Given the description of an element on the screen output the (x, y) to click on. 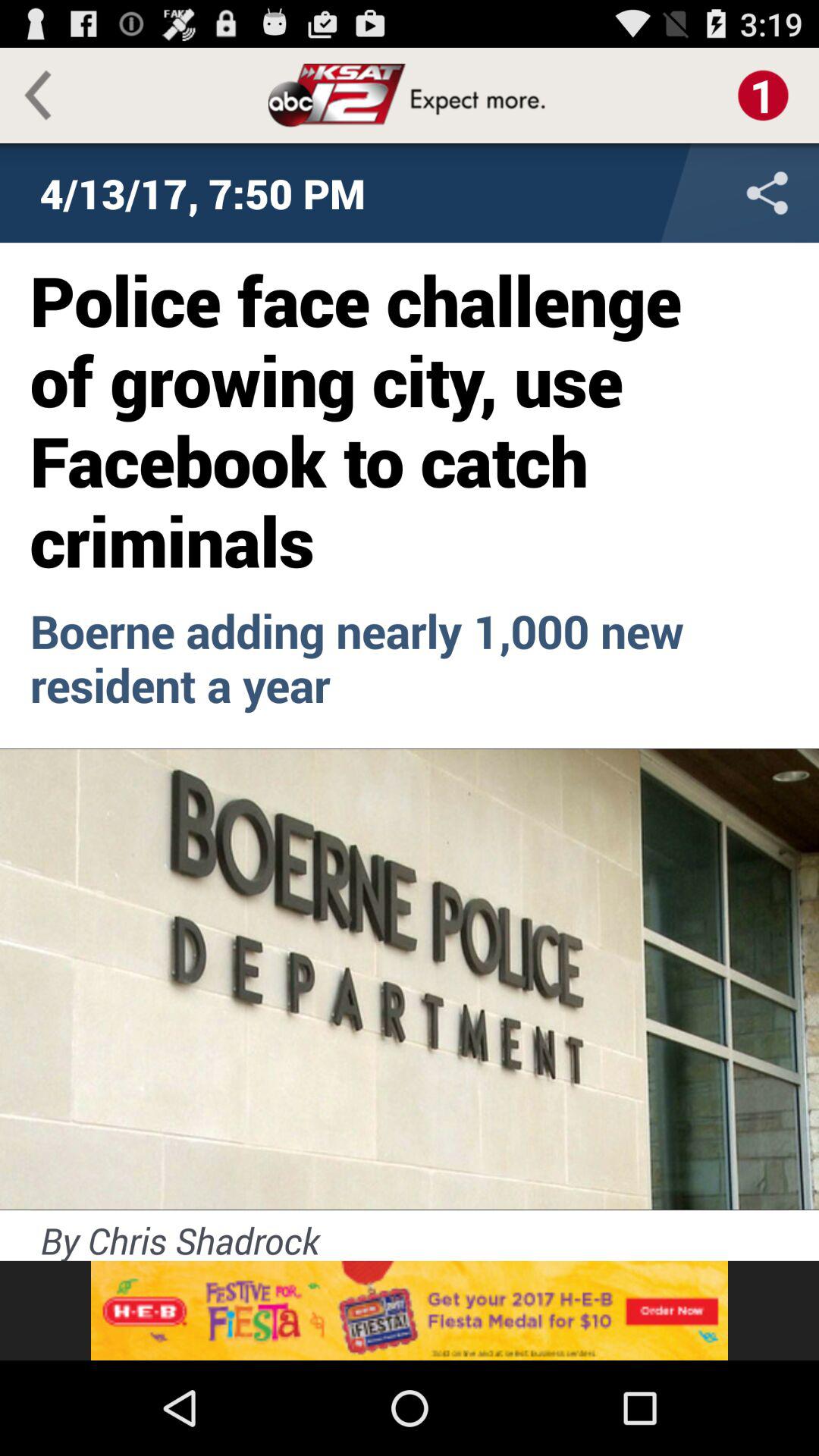
share article (667, 192)
